Given the description of an element on the screen output the (x, y) to click on. 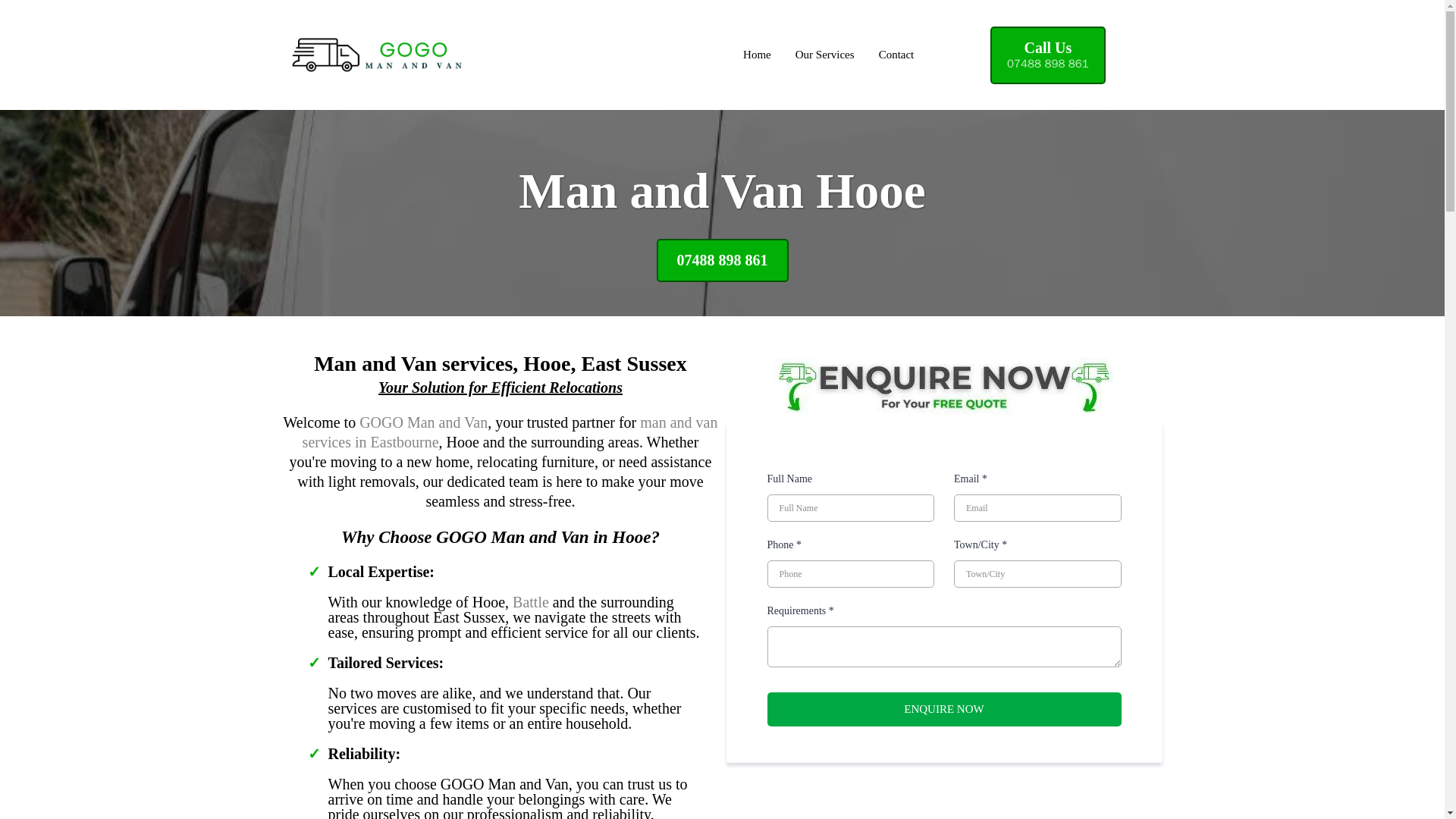
GOGO Man and Van (1047, 54)
Home (423, 422)
07488 898 861 (756, 54)
man and van services in Eastbourne (722, 259)
ENQUIRE NOW (509, 432)
Battle (944, 709)
Contact (530, 601)
Our Services (896, 54)
